Given the description of an element on the screen output the (x, y) to click on. 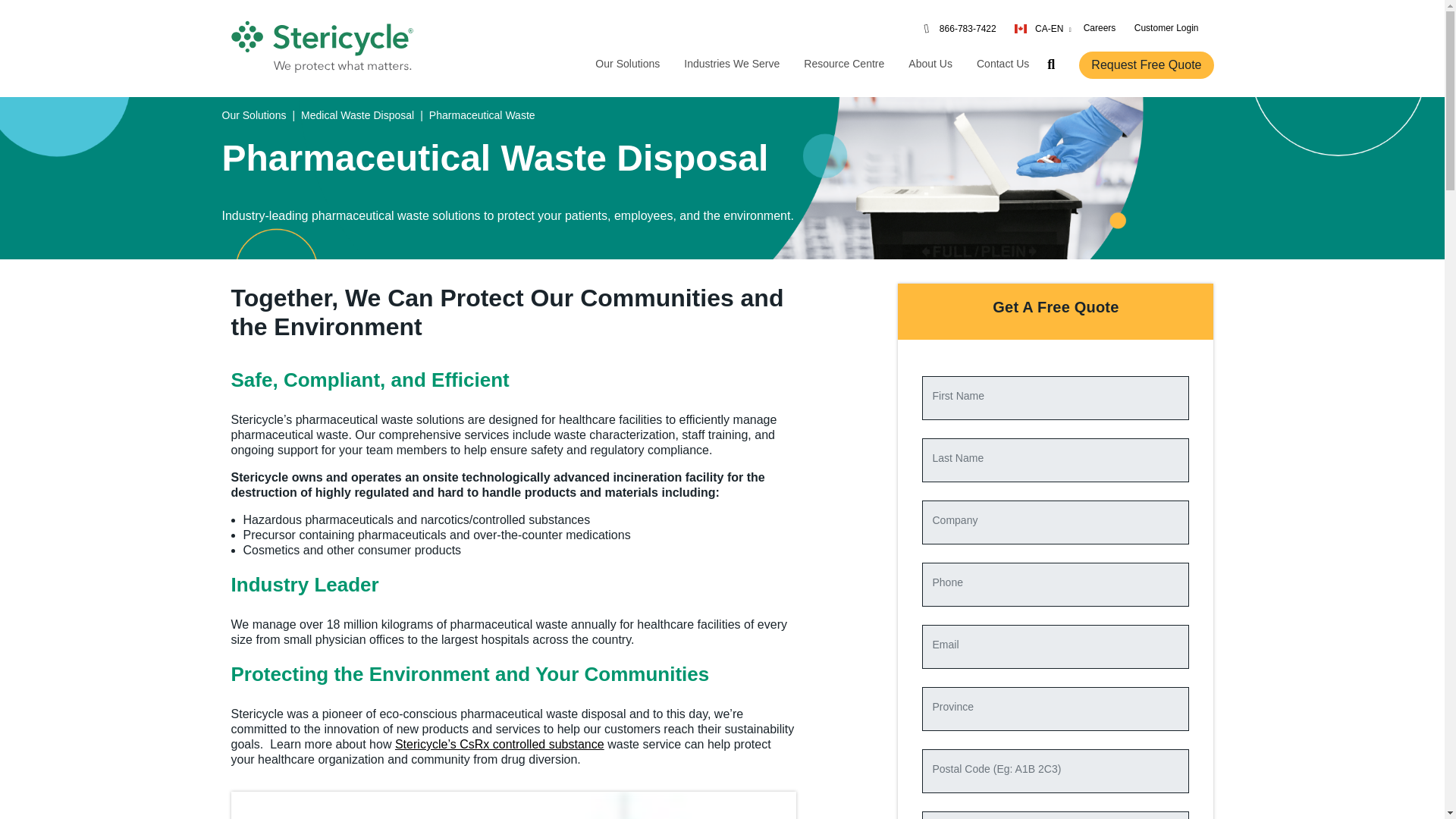
Customer Login (1166, 27)
Industries We Serve (731, 63)
866-783-7422 (967, 28)
CA-EN (1042, 28)
Our Solutions (627, 63)
Careers (1099, 27)
